Given the description of an element on the screen output the (x, y) to click on. 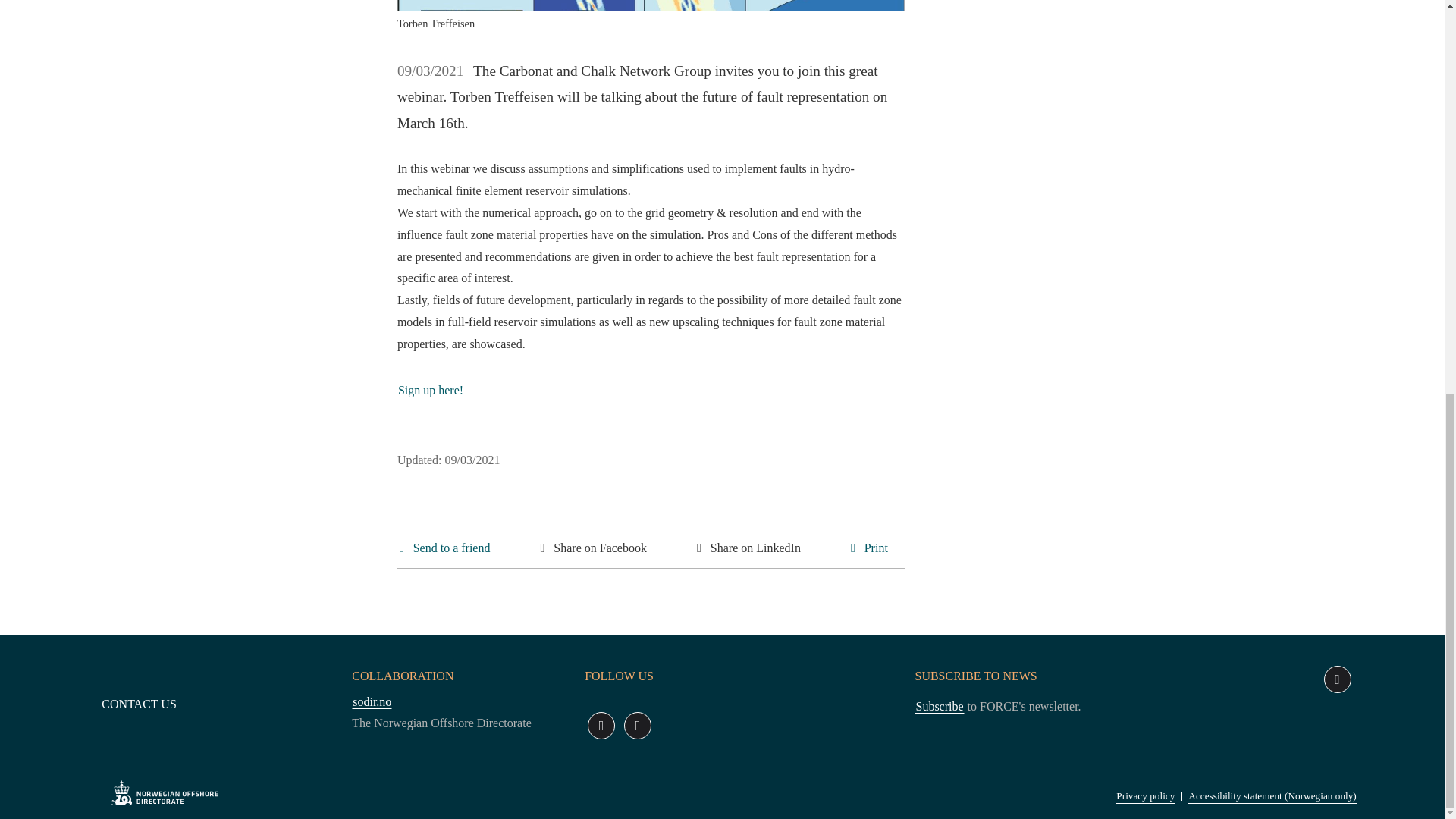
Scroll to top (1337, 678)
Share on Facebook (592, 547)
Send to a friend (445, 547)
LinkedIn (601, 725)
sodir.no (371, 701)
Scroll to top (1337, 678)
Scroll to top (1337, 678)
Share on LinkedIn (748, 547)
Sign up here! (430, 390)
Subscription (938, 706)
